Given the description of an element on the screen output the (x, y) to click on. 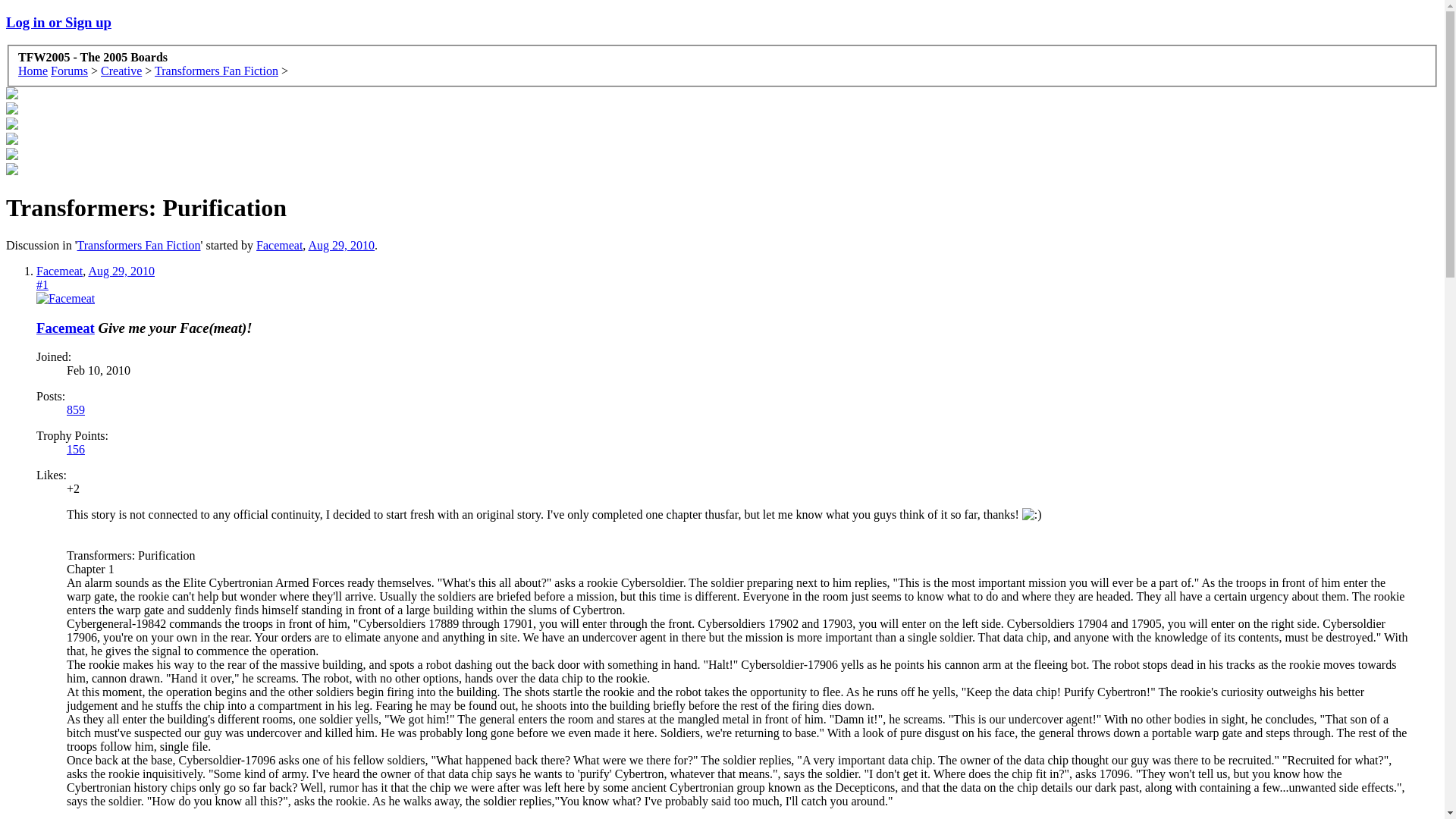
859 (75, 409)
Transformers Fan Fiction (138, 245)
Aug 29, 2010 at 7:12 PM (340, 245)
Home (32, 70)
Aug 29, 2010 (120, 270)
Facemeat (65, 327)
Facemeat (279, 245)
Log in or Sign up (58, 22)
156 (75, 449)
Transformers Fan Fiction (216, 70)
